Given the description of an element on the screen output the (x, y) to click on. 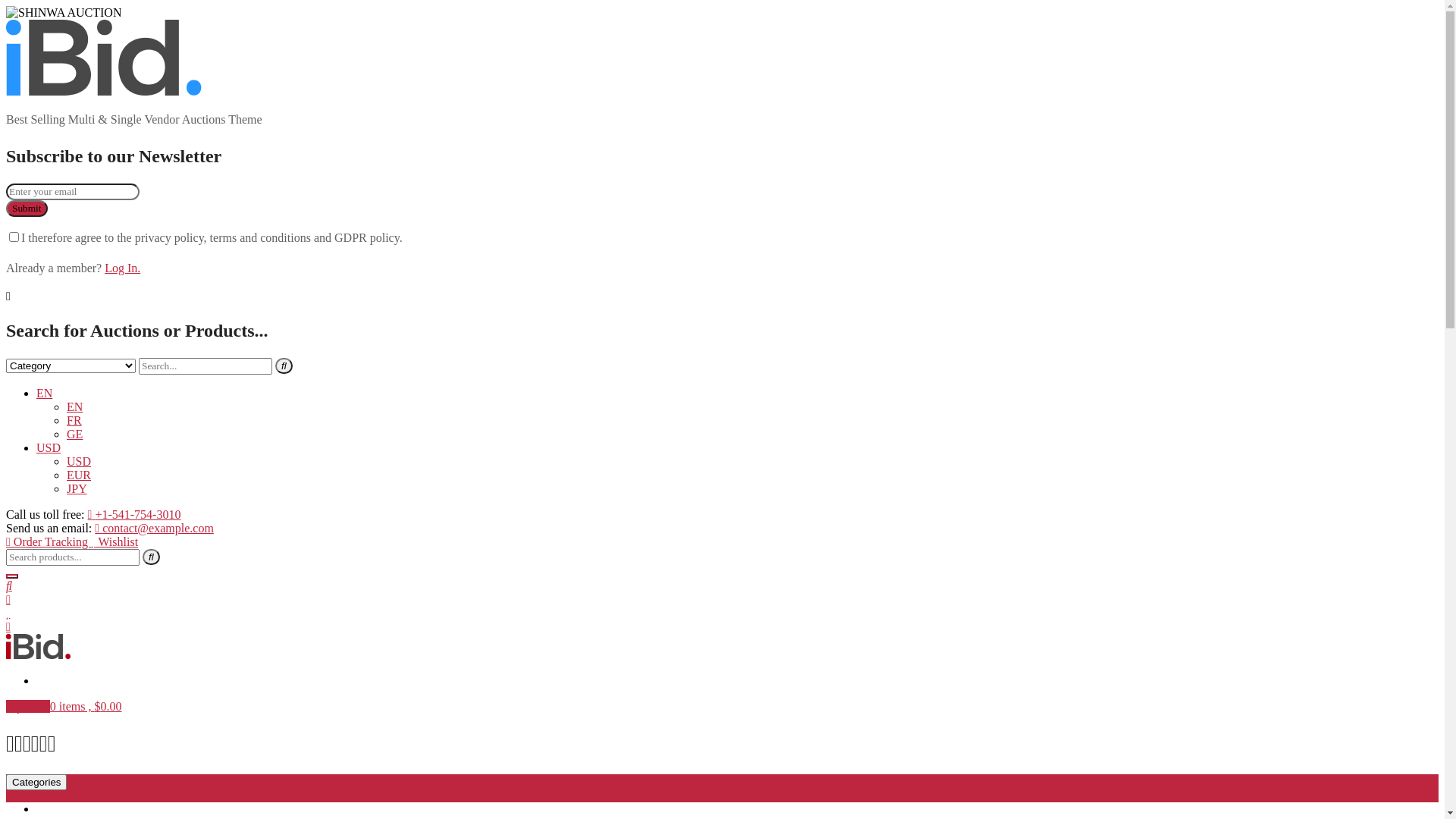
0 items , $0.00 Element type: text (86, 705)
Wishlist Element type: text (114, 541)
Order Tracking Element type: text (48, 541)
FR Element type: text (73, 420)
EN Element type: text (74, 406)
GE Element type: text (74, 433)
Log In. Element type: text (122, 267)
JPY Element type: text (76, 488)
USD Element type: text (78, 461)
contact@example.com Element type: text (153, 527)
My Cart Element type: text (28, 705)
Submit Element type: text (26, 208)
Sign In Element type: text (54, 680)
+1-541-754-3010 Element type: text (134, 514)
EN Element type: text (44, 392)
EUR Element type: text (78, 474)
Categories Element type: text (36, 782)
Archaeology & Natural History Element type: text (113, 808)
USD Element type: text (48, 447)
